Given the description of an element on the screen output the (x, y) to click on. 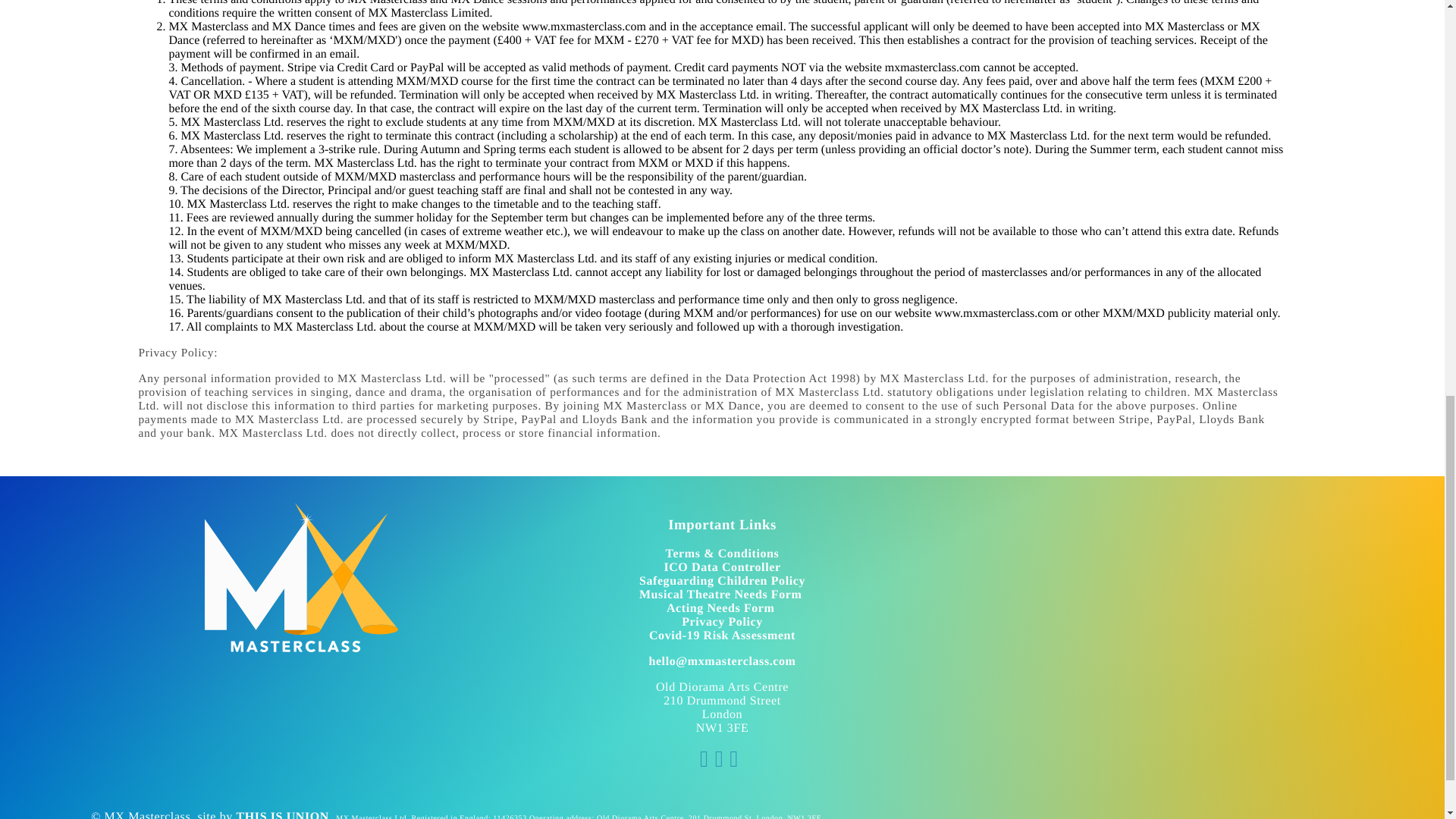
Needs Form (740, 608)
Needs Form (767, 594)
Privacy Policy (721, 621)
THIS IS UNION (282, 814)
Safeguarding Children Policy (722, 581)
Covid-19 Risk Assessment (721, 635)
ICO Data Controller (721, 567)
